Given the description of an element on the screen output the (x, y) to click on. 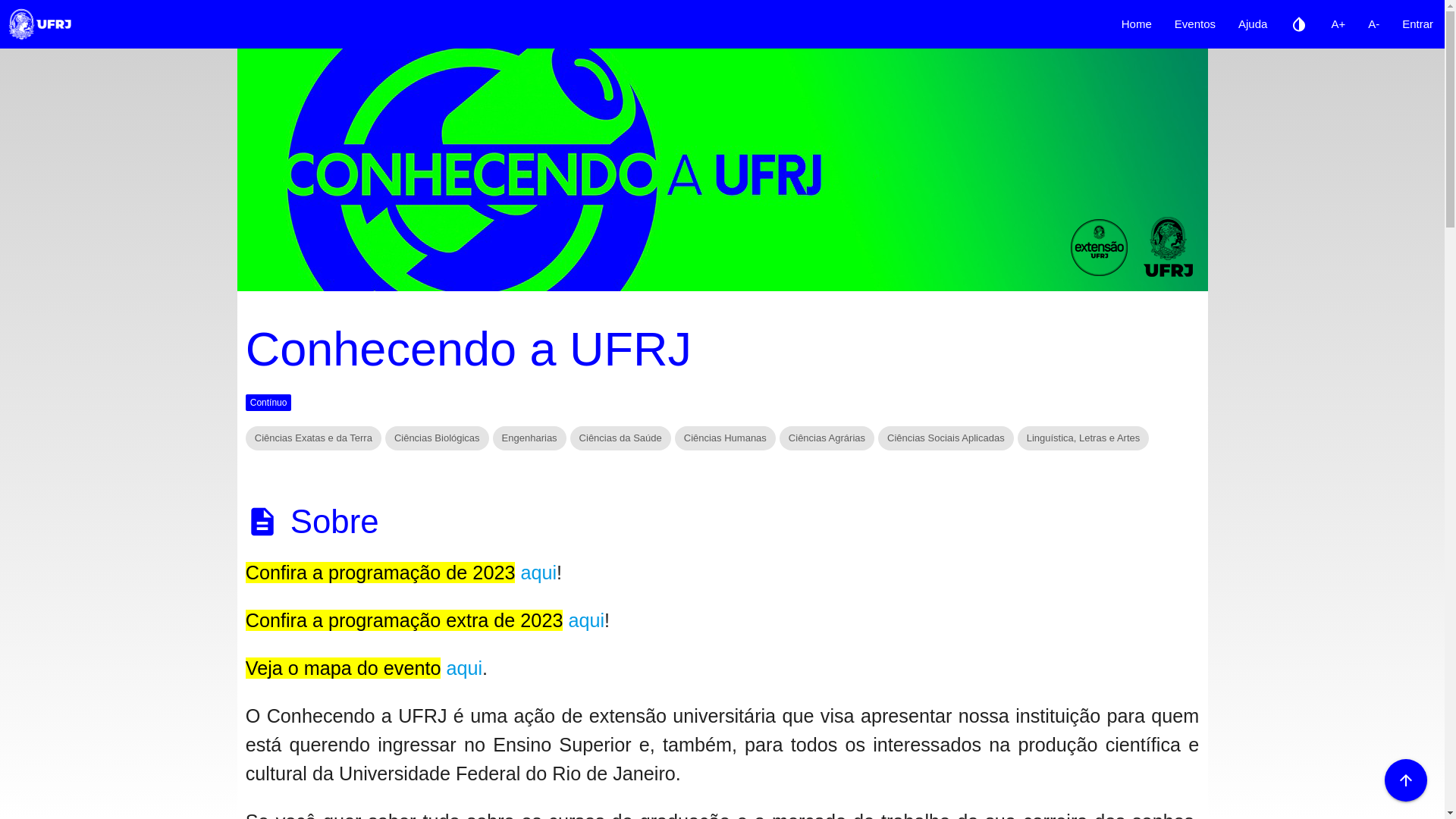
aqui Element type: text (463, 667)
Eventos Element type: text (1194, 24)
aqui Element type: text (538, 572)
Home Element type: text (1136, 24)
Conhecendo a UFRJ Element type: hover (721, 169)
A- Element type: text (1373, 24)
arrow_upward Element type: text (1405, 780)
invert_colors Element type: text (1298, 24)
A+ Element type: text (1337, 24)
aqui Element type: text (585, 619)
Plataforma de Apoio a Eventos Element type: hover (40, 24)
Entrar Element type: text (1417, 24)
Ajuda Element type: text (1252, 24)
